Given the description of an element on the screen output the (x, y) to click on. 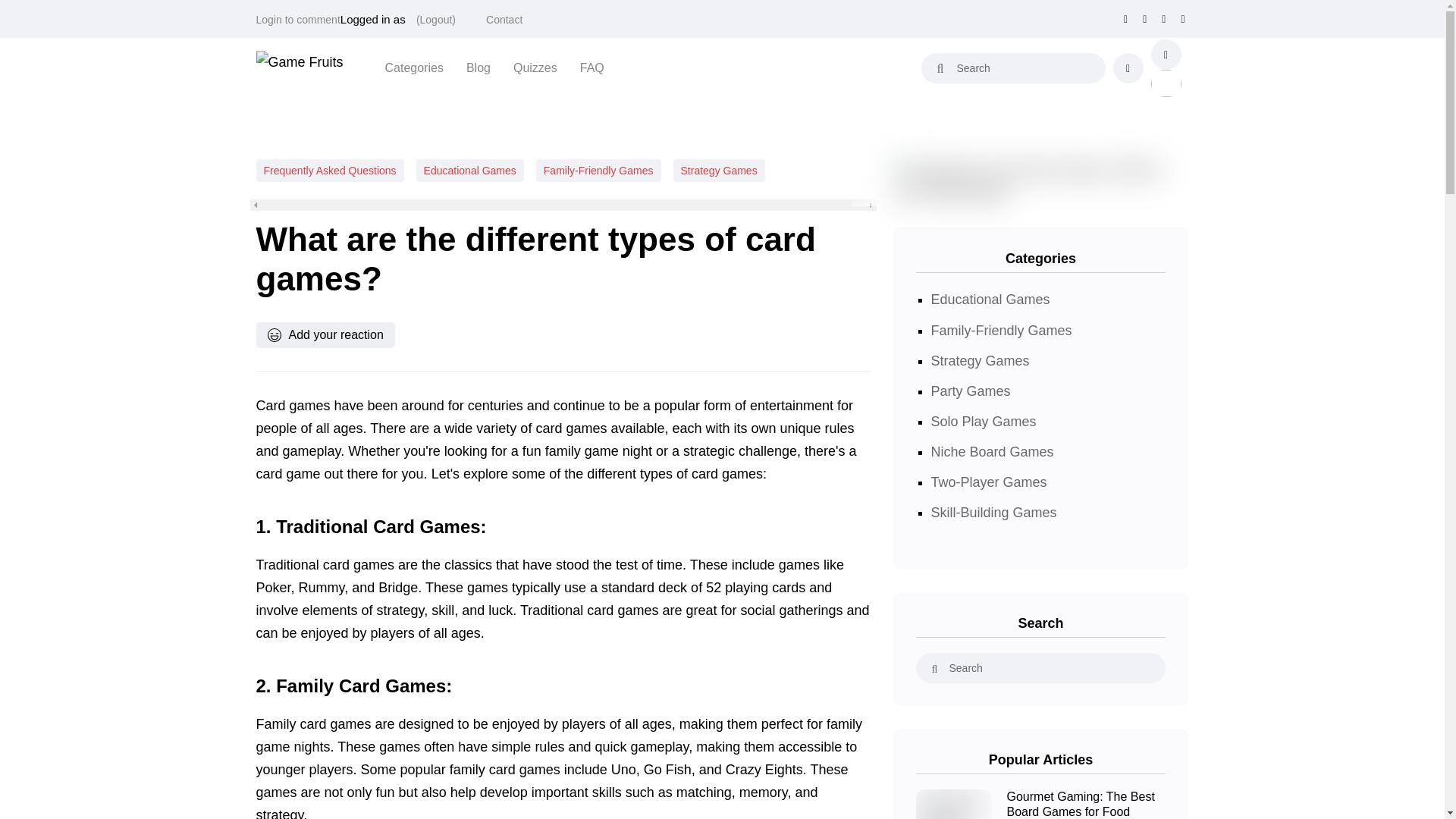
Categories (414, 67)
Login to comment (298, 19)
Contact (504, 19)
